Given the description of an element on the screen output the (x, y) to click on. 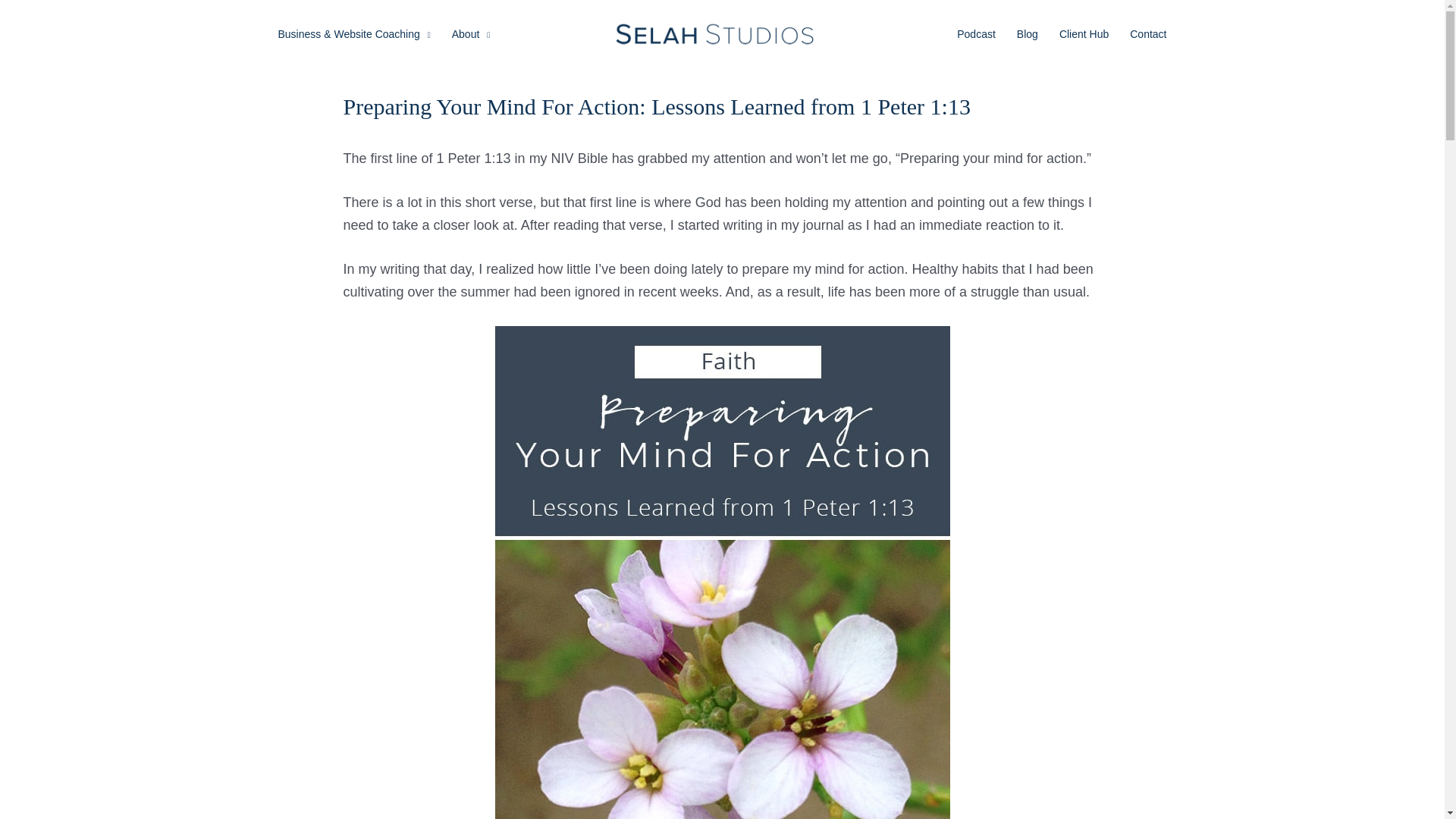
Podcast (976, 33)
Blog (1027, 33)
Contact (1147, 33)
About (470, 33)
Client Hub (1083, 33)
